Given the description of an element on the screen output the (x, y) to click on. 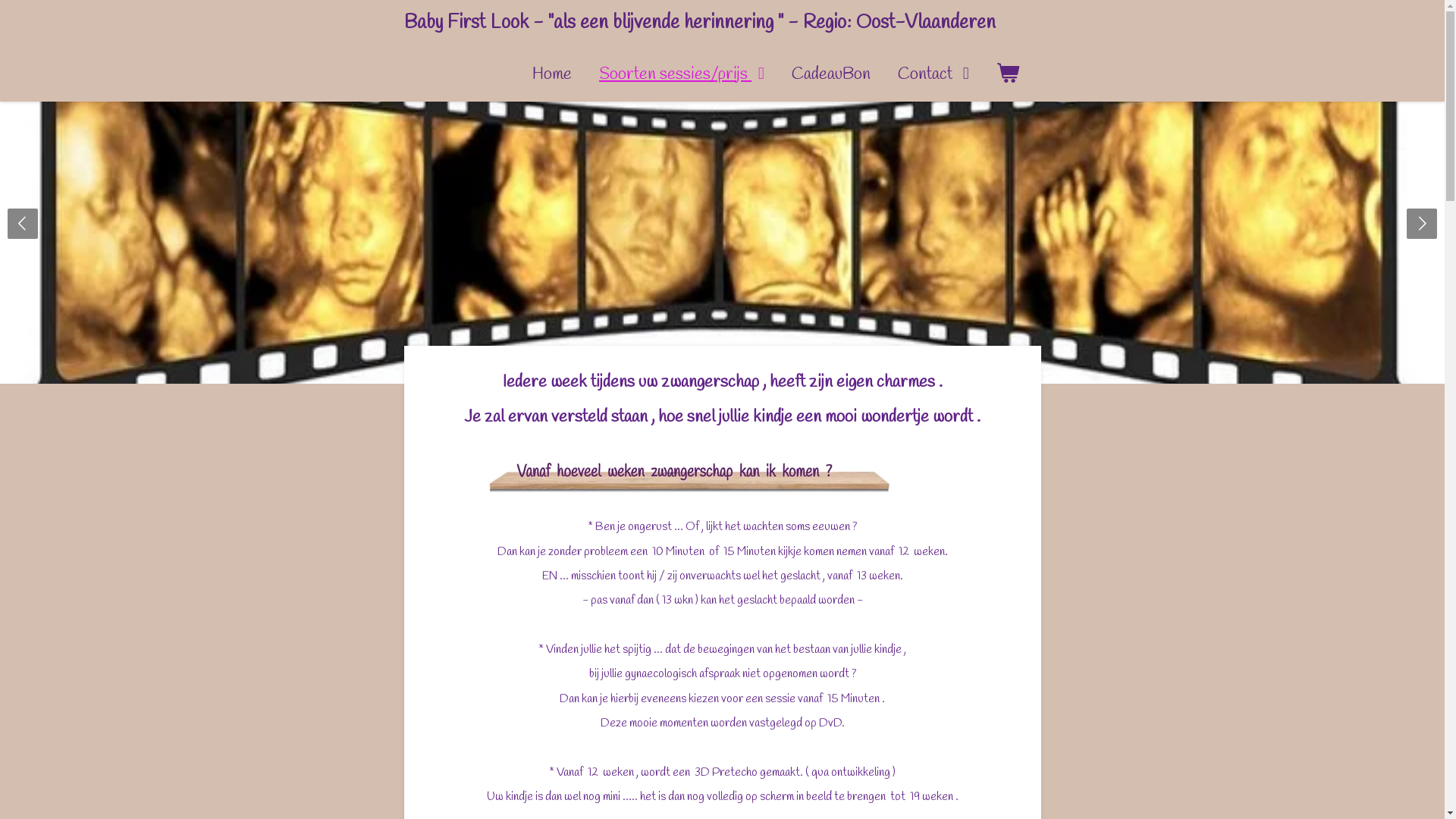
Soorten sessies/prijs Element type: text (681, 73)
Bekijk winkelwagen Element type: hover (1007, 73)
Contact Element type: text (933, 73)
Home Element type: text (551, 73)
CadeauBon Element type: text (831, 73)
